Given the description of an element on the screen output the (x, y) to click on. 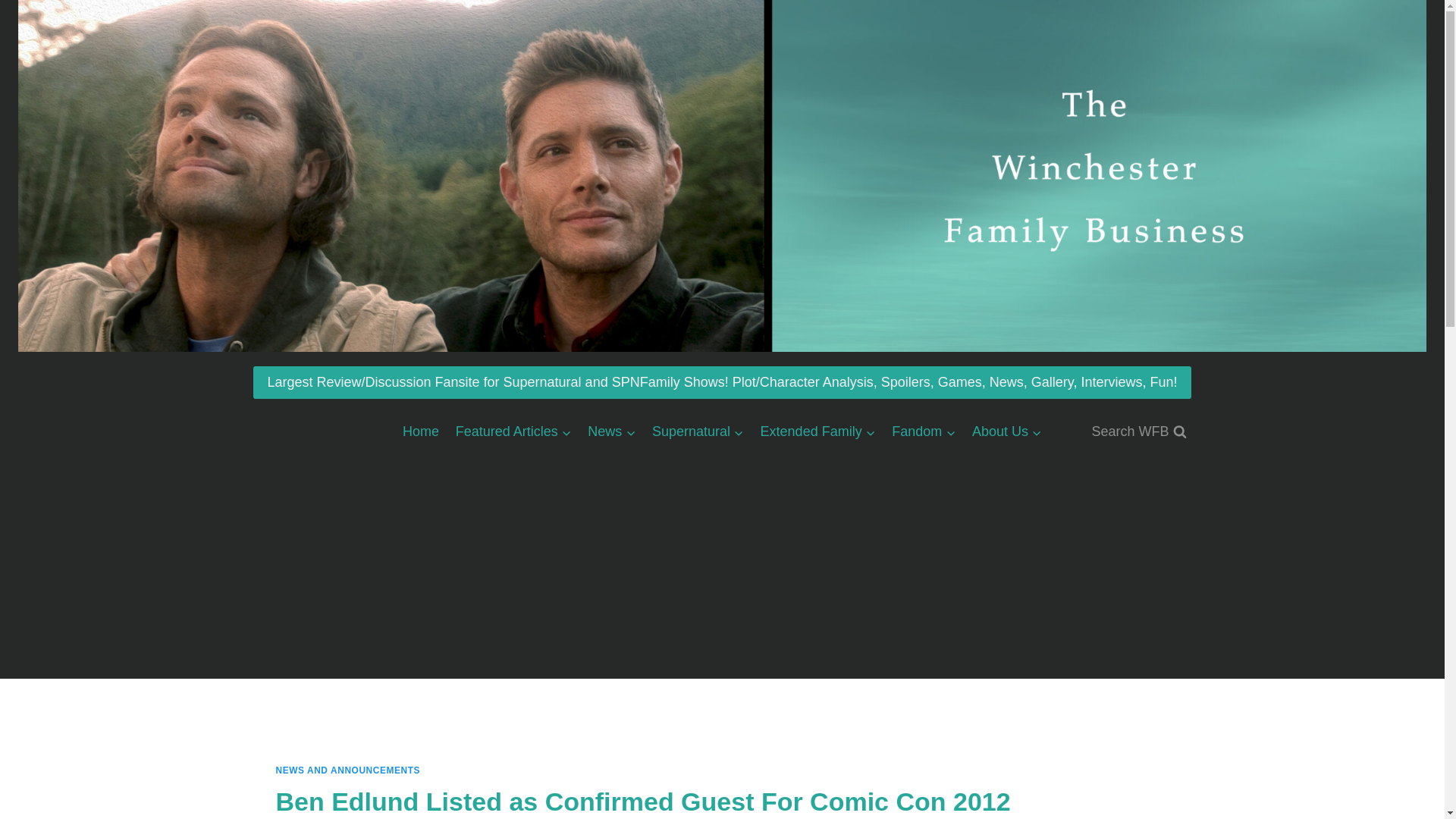
Supernatural (697, 431)
Search WFB (1138, 431)
Home (420, 431)
Featured Articles (512, 431)
Extended Family (817, 431)
News (612, 431)
Fandom (923, 431)
NEWS AND ANNOUNCEMENTS (348, 769)
About Us (1006, 431)
